Given the description of an element on the screen output the (x, y) to click on. 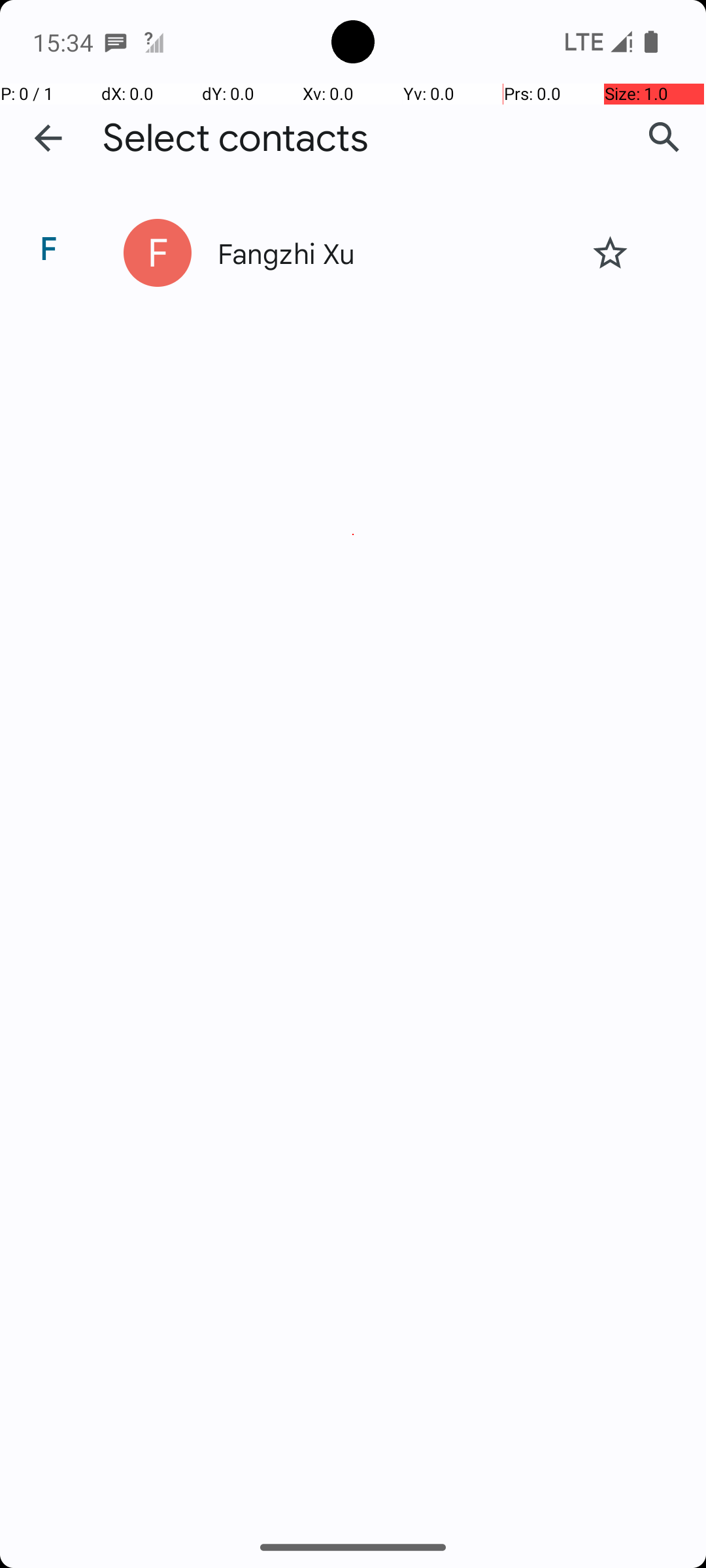
Select contacts Element type: android.widget.TextView (235, 138)
Search contacts Element type: android.widget.Button (664, 137)
Fangzhi Xu Element type: android.widget.TextView (392, 252)
Star contact Element type: android.widget.ImageButton (609, 252)
